Given the description of an element on the screen output the (x, y) to click on. 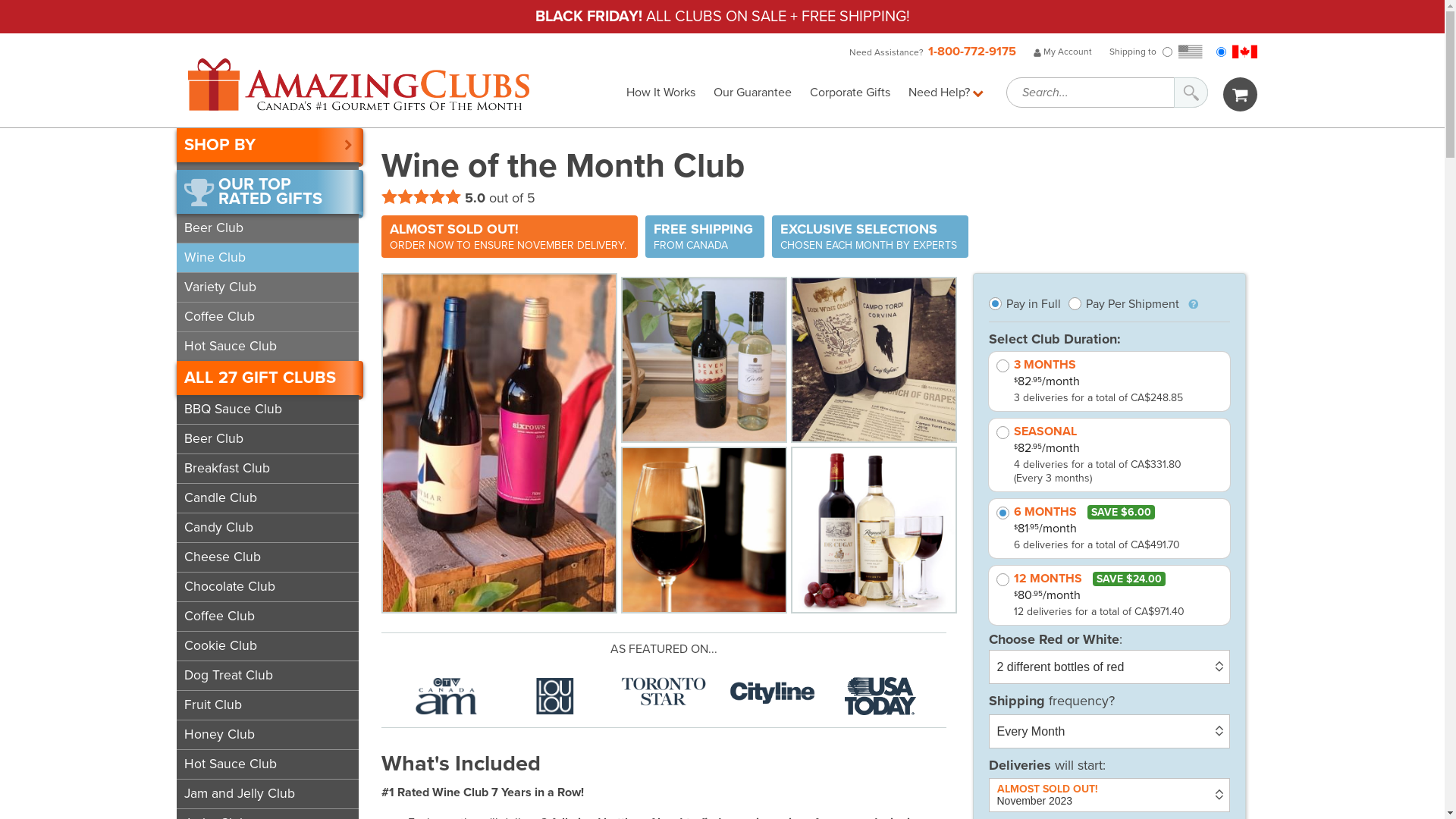
How It Works Element type: text (660, 92)
Cookie Club Element type: text (266, 645)
ALL 27 GIFT CLUBS Element type: text (268, 377)
Our Guarantee Element type: text (751, 92)
Coffee Club Element type: text (266, 616)
Corporate Gifts Element type: text (849, 92)
Coffee Club Element type: text (266, 316)
Beer Club Element type: text (266, 438)
Variety Club Element type: text (266, 287)
Hot Sauce Club Element type: text (266, 346)
Jam and Jelly Club Element type: text (266, 793)
My Account Element type: text (1061, 51)
5.0 out of 5 Element type: text (457, 197)
Candy Club Element type: text (266, 527)
Beer Club Element type: text (266, 227)
Need Help? Element type: text (945, 92)
Fruit Club Element type: text (266, 704)
Honey Club Element type: text (266, 734)
Cheese Club Element type: text (266, 556)
BBQ Sauce Club Element type: text (266, 409)
Dog Treat Club Element type: text (266, 675)
Wine Club Element type: text (266, 257)
Breakfast Club Element type: text (266, 468)
Candle Club Element type: text (266, 497)
1-800-772-9175 Element type: text (972, 51)
Chocolate Club Element type: text (266, 586)
Hot Sauce Club Element type: text (266, 763)
